Given the description of an element on the screen output the (x, y) to click on. 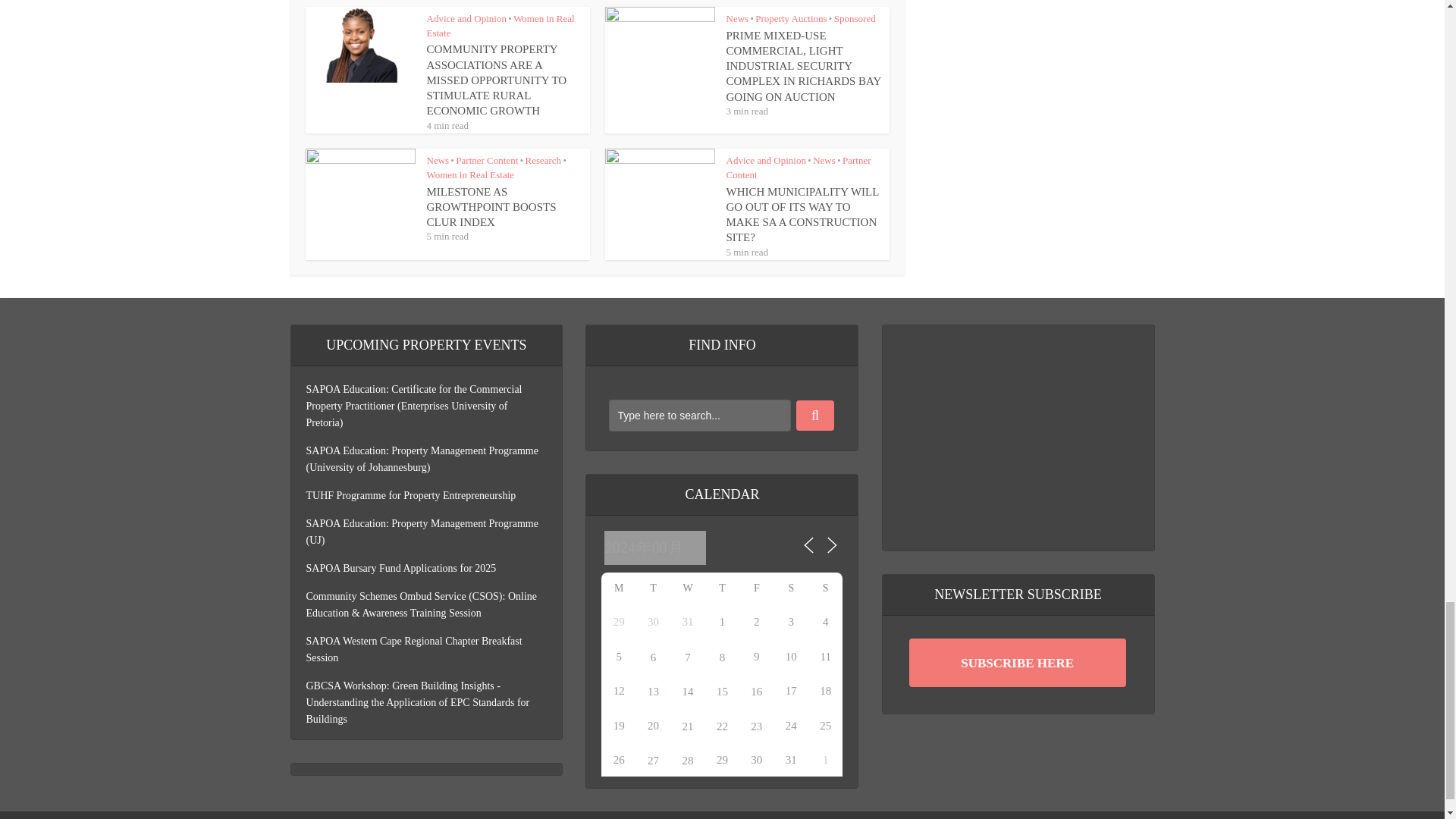
Type here to search... (699, 415)
Milestone as Growthpoint boosts Clur Index (491, 207)
Type here to search... (699, 415)
2024-08 (655, 547)
